Given the description of an element on the screen output the (x, y) to click on. 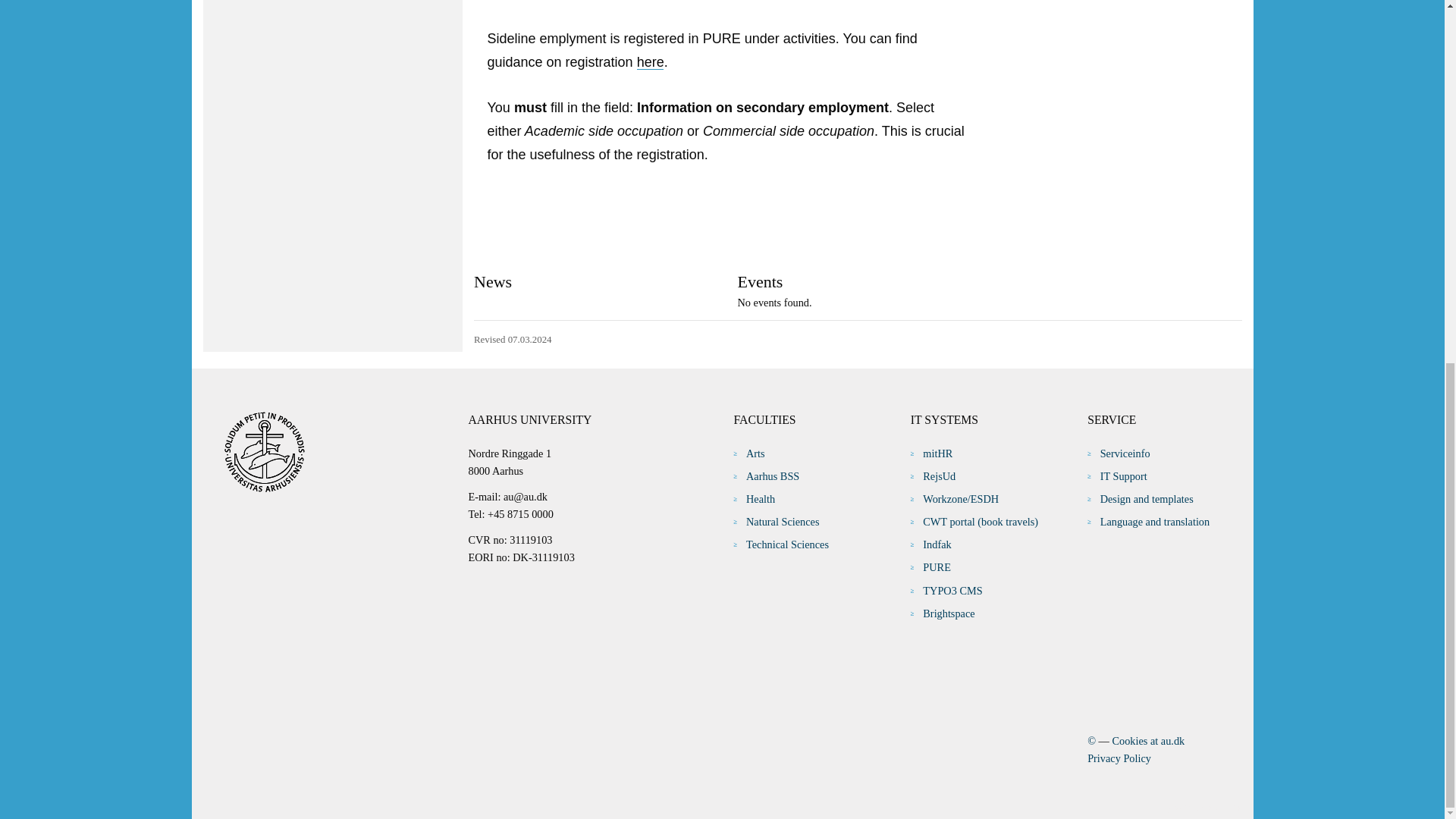
Health (759, 499)
TYPO3 CMS (952, 590)
Aarhus BSS (772, 476)
here (650, 61)
Indfak (936, 544)
RejsUd (939, 476)
Arts (755, 453)
Technical Sciences (786, 544)
mitHR (937, 453)
Natural Sciences (781, 521)
Brightspace (948, 613)
PURE (936, 567)
Serviceinfo (1125, 453)
